Given the description of an element on the screen output the (x, y) to click on. 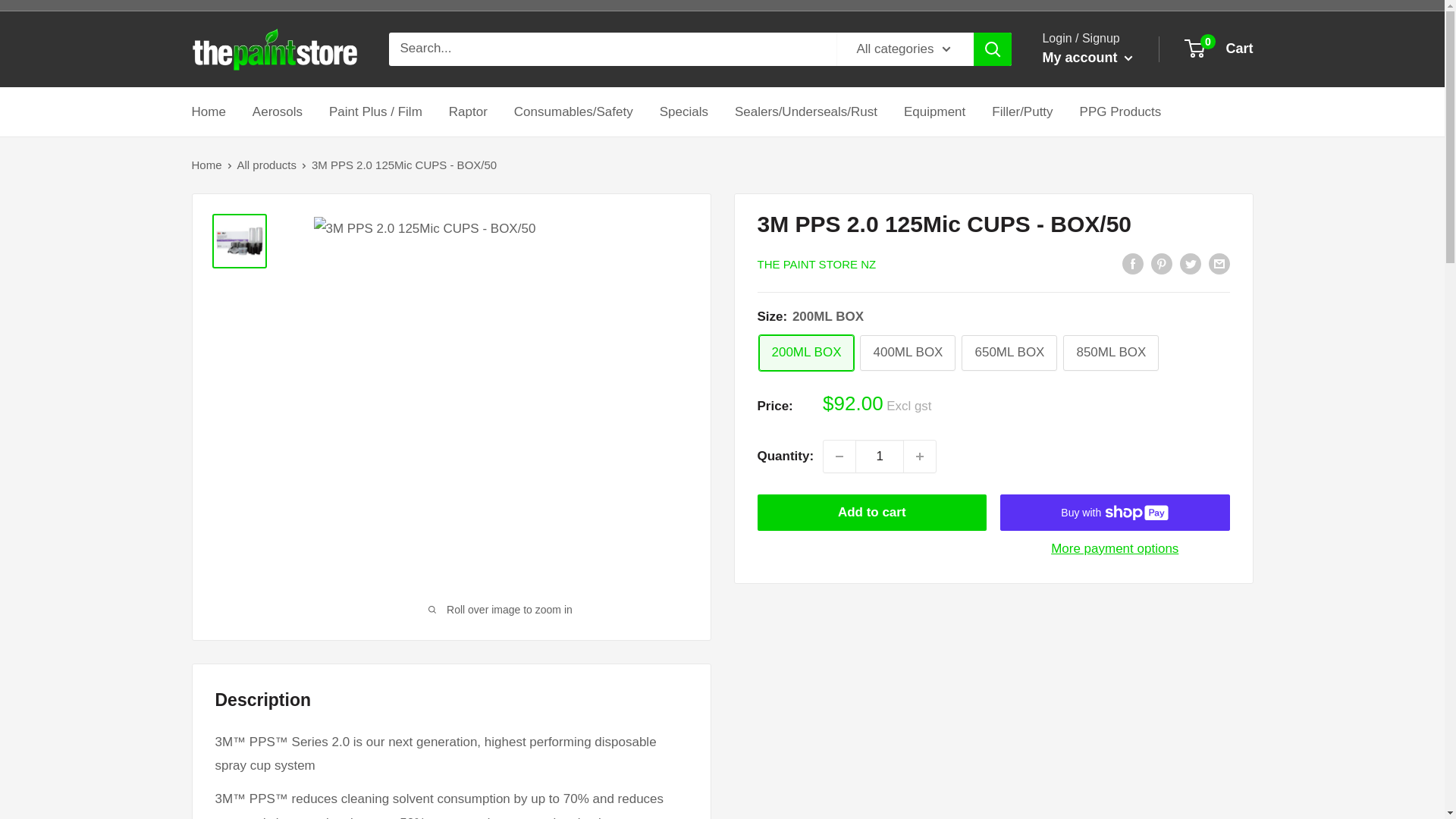
Home (207, 111)
200ML BOX (805, 352)
The Paint Store NZ (274, 49)
PPG Products (1120, 111)
1 (880, 456)
Decrease quantity by 1 (840, 456)
Aerosols (276, 111)
650ML BOX (1008, 352)
Specials (683, 111)
Home (205, 164)
850ML BOX (1110, 352)
Equipment (1219, 49)
Raptor (934, 111)
400ML BOX (467, 111)
